Given the description of an element on the screen output the (x, y) to click on. 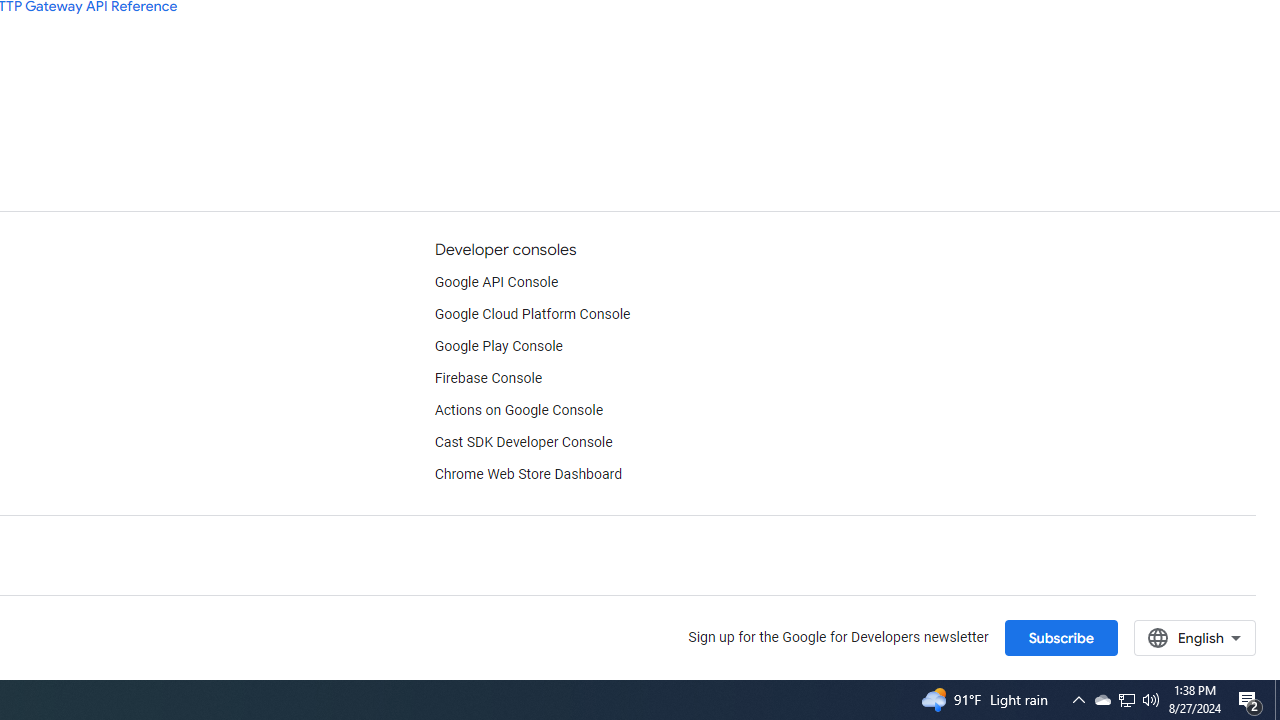
Firebase Console (487, 378)
Chrome Web Store Dashboard (528, 475)
Google Cloud Platform Console (532, 314)
Subscribe (1060, 637)
Cast SDK Developer Console (523, 442)
Google Play Console (498, 346)
English (1193, 637)
Actions on Google Console (518, 410)
Google API Console (496, 282)
